Given the description of an element on the screen output the (x, y) to click on. 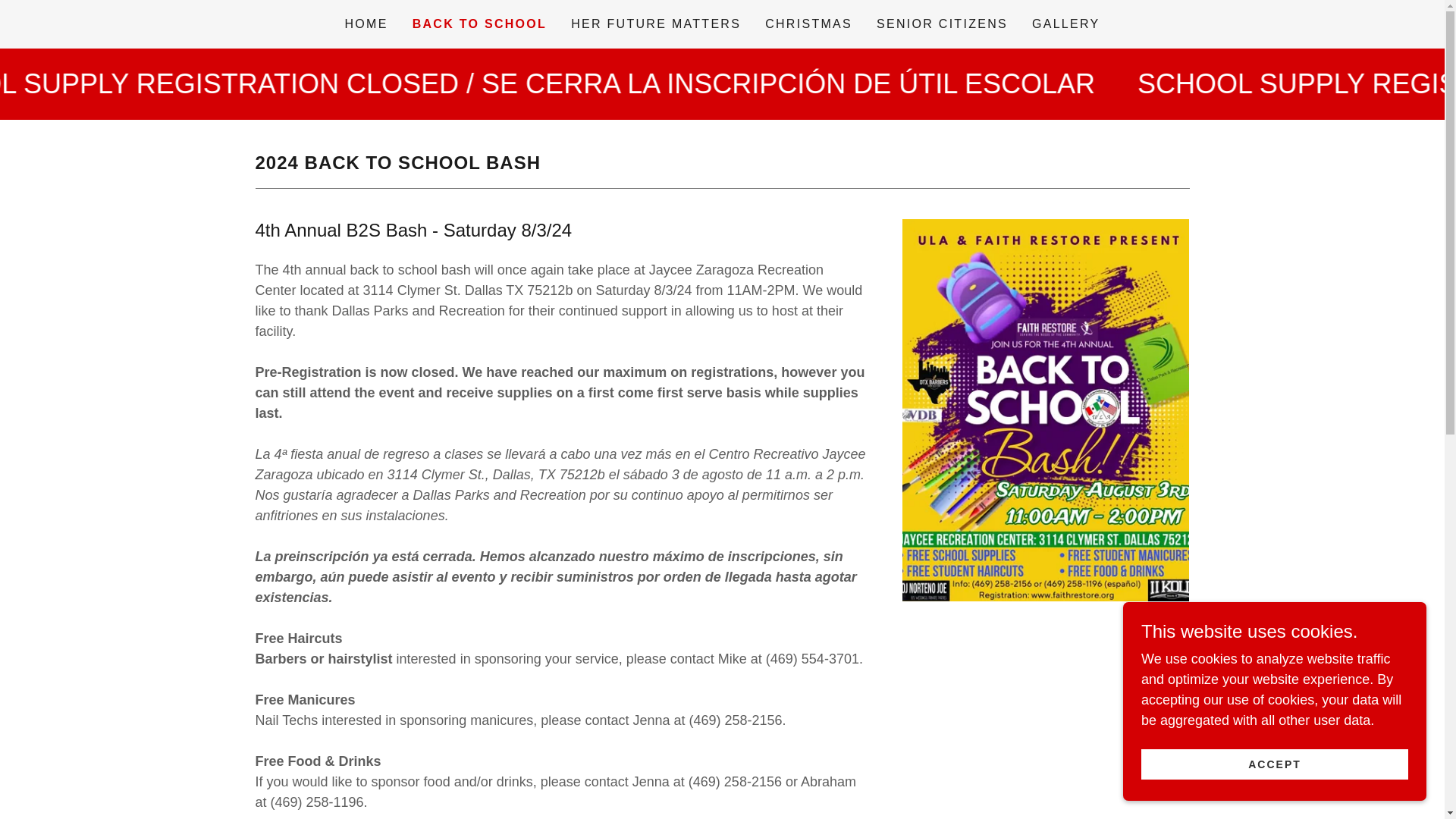
SENIOR CITIZENS (941, 23)
CHRISTMAS (808, 23)
BACK TO SCHOOL (479, 24)
HOME (365, 23)
HER FUTURE MATTERS (655, 23)
GALLERY (1066, 23)
ACCEPT (1274, 764)
